Given the description of an element on the screen output the (x, y) to click on. 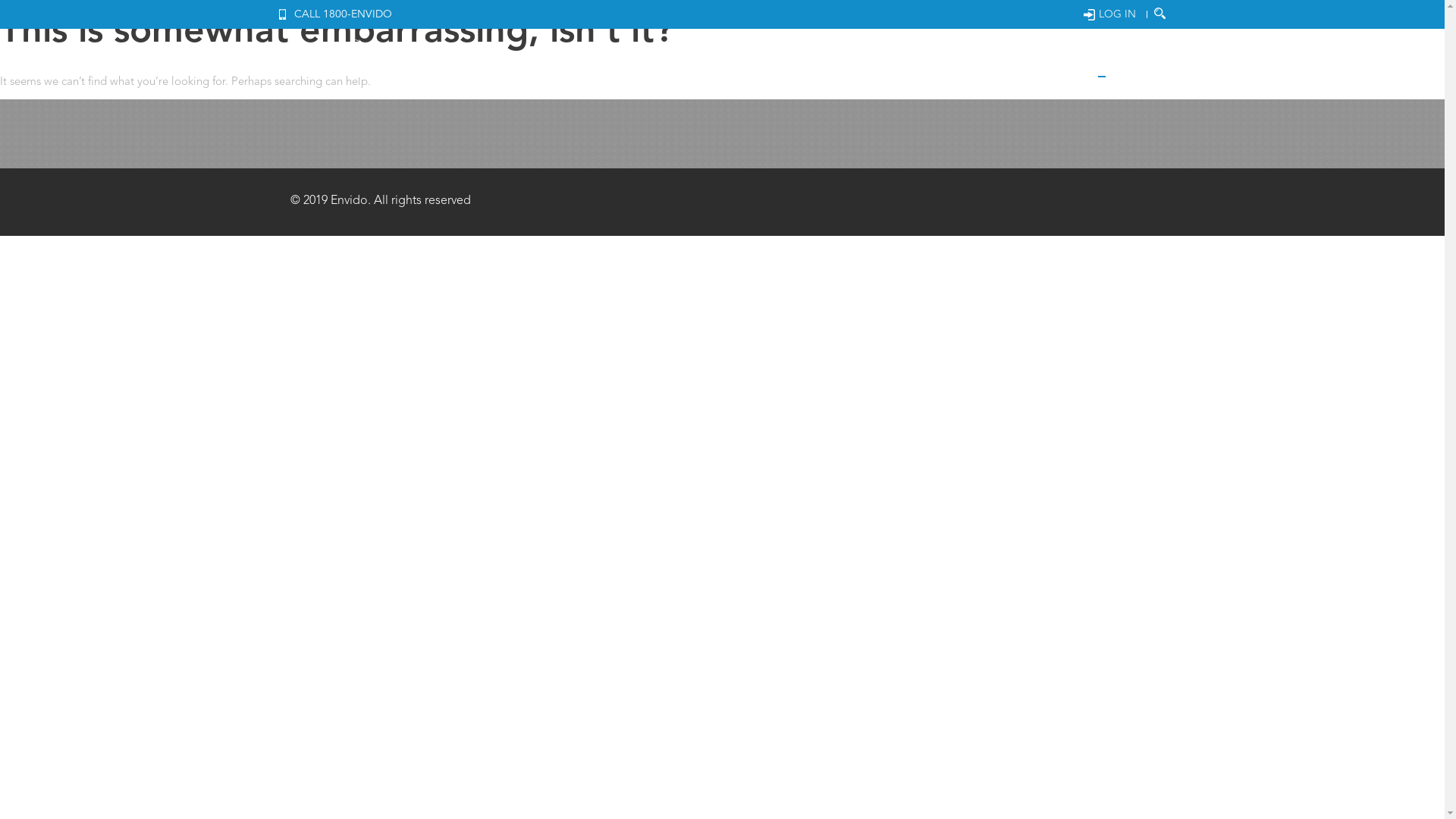
CONTACT US Element type: text (1132, 63)
LOG IN Element type: text (1108, 14)
Skip to content Element type: text (1125, 50)
Envido Element type: hover (335, 61)
  Element type: text (1160, 13)
